Given the description of an element on the screen output the (x, y) to click on. 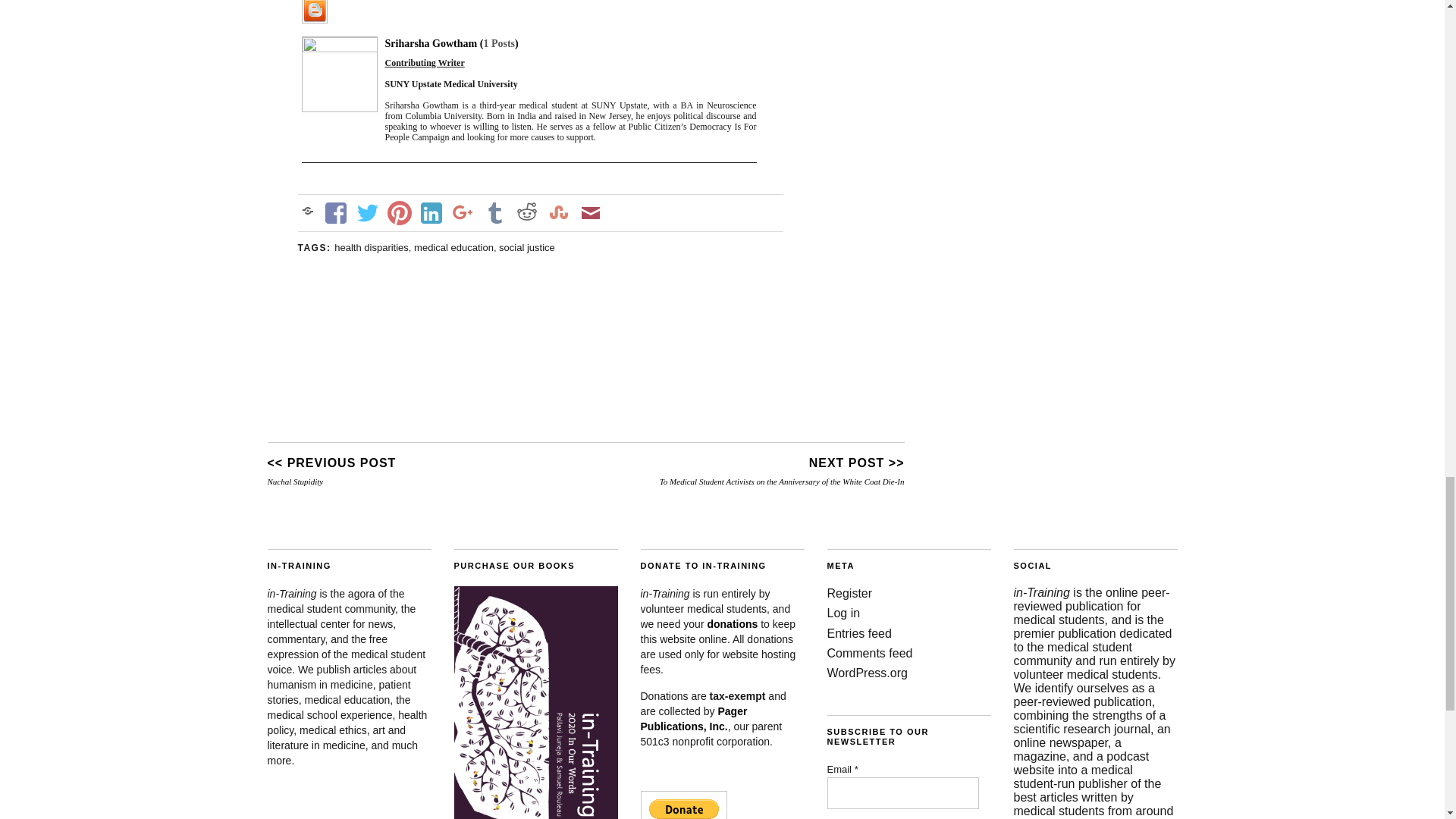
1 Posts (499, 43)
Email (902, 793)
